Given the description of an element on the screen output the (x, y) to click on. 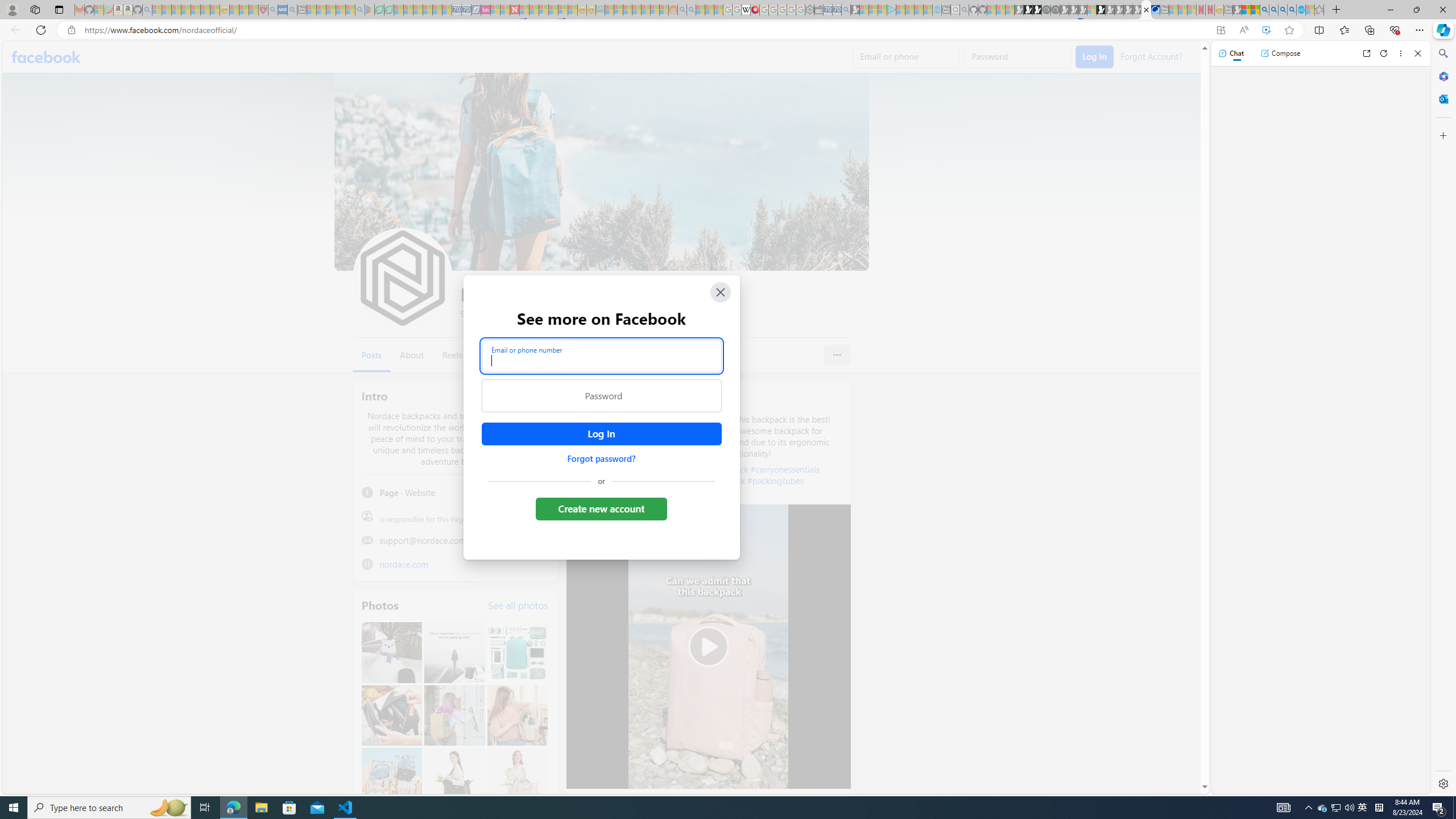
Future Focus Report 2024 - Sleeping (1054, 9)
Google Chrome Internet Browser Download - Search Images (1291, 9)
